Given the description of an element on the screen output the (x, y) to click on. 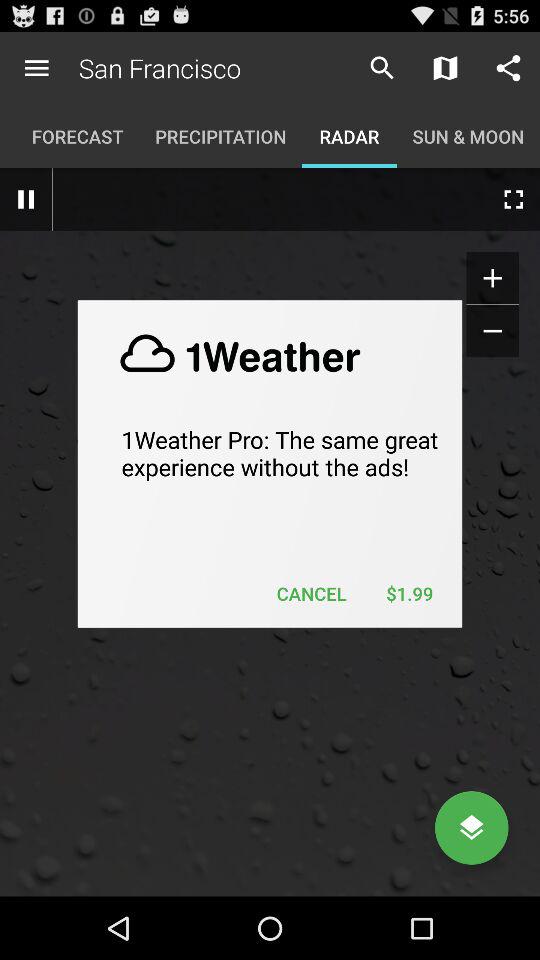
click the icon to the left of the $1.99 item (311, 593)
